Given the description of an element on the screen output the (x, y) to click on. 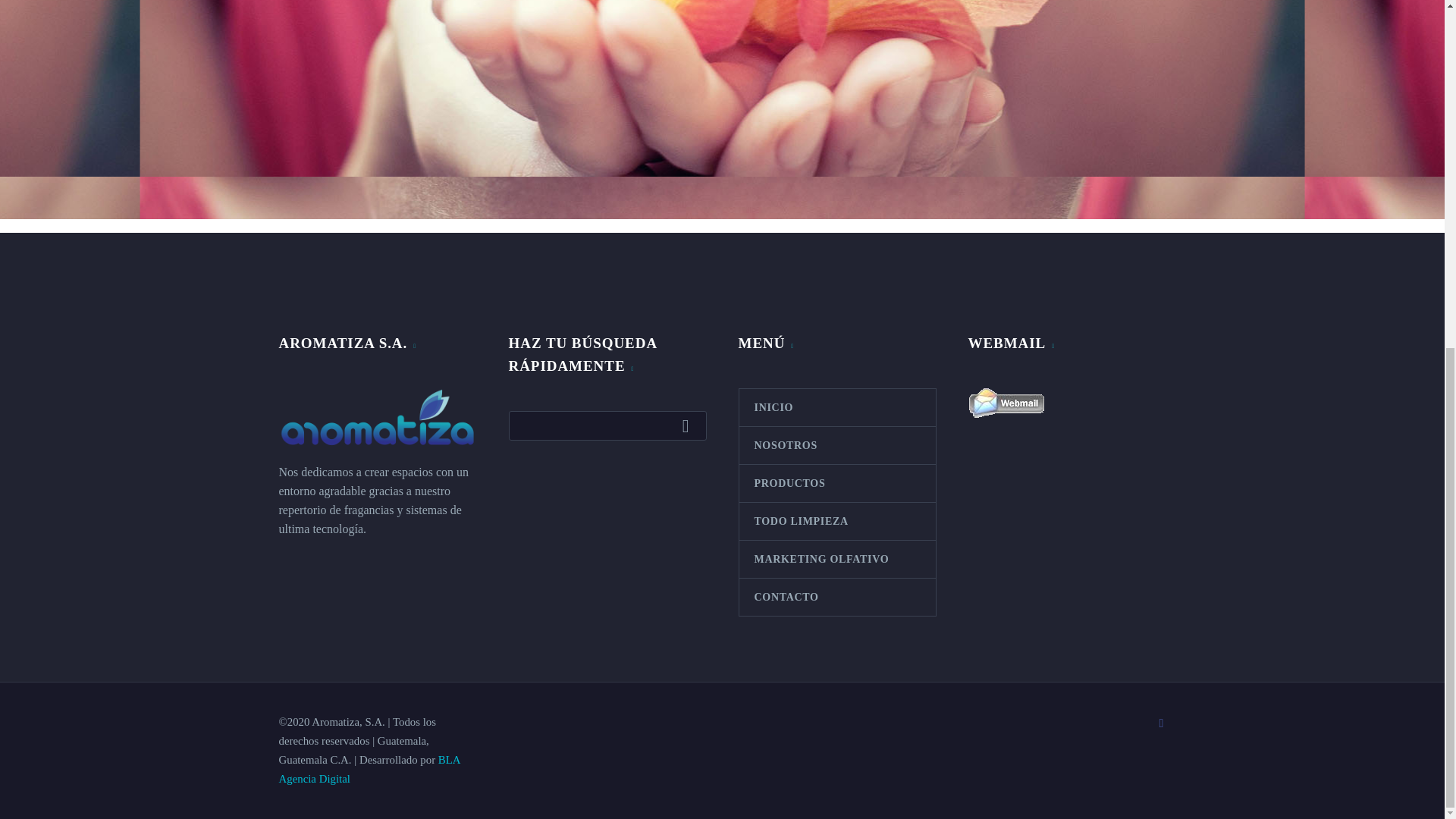
MARKETING OLFATIVO (836, 559)
CONTACTO (836, 596)
PRODUCTOS (836, 483)
NOSOTROS (836, 445)
INICIO (836, 407)
Facebook (1161, 723)
TODO LIMPIEZA (836, 520)
BLA Agencia Digital (369, 768)
BUSCAR (689, 425)
